Given the description of an element on the screen output the (x, y) to click on. 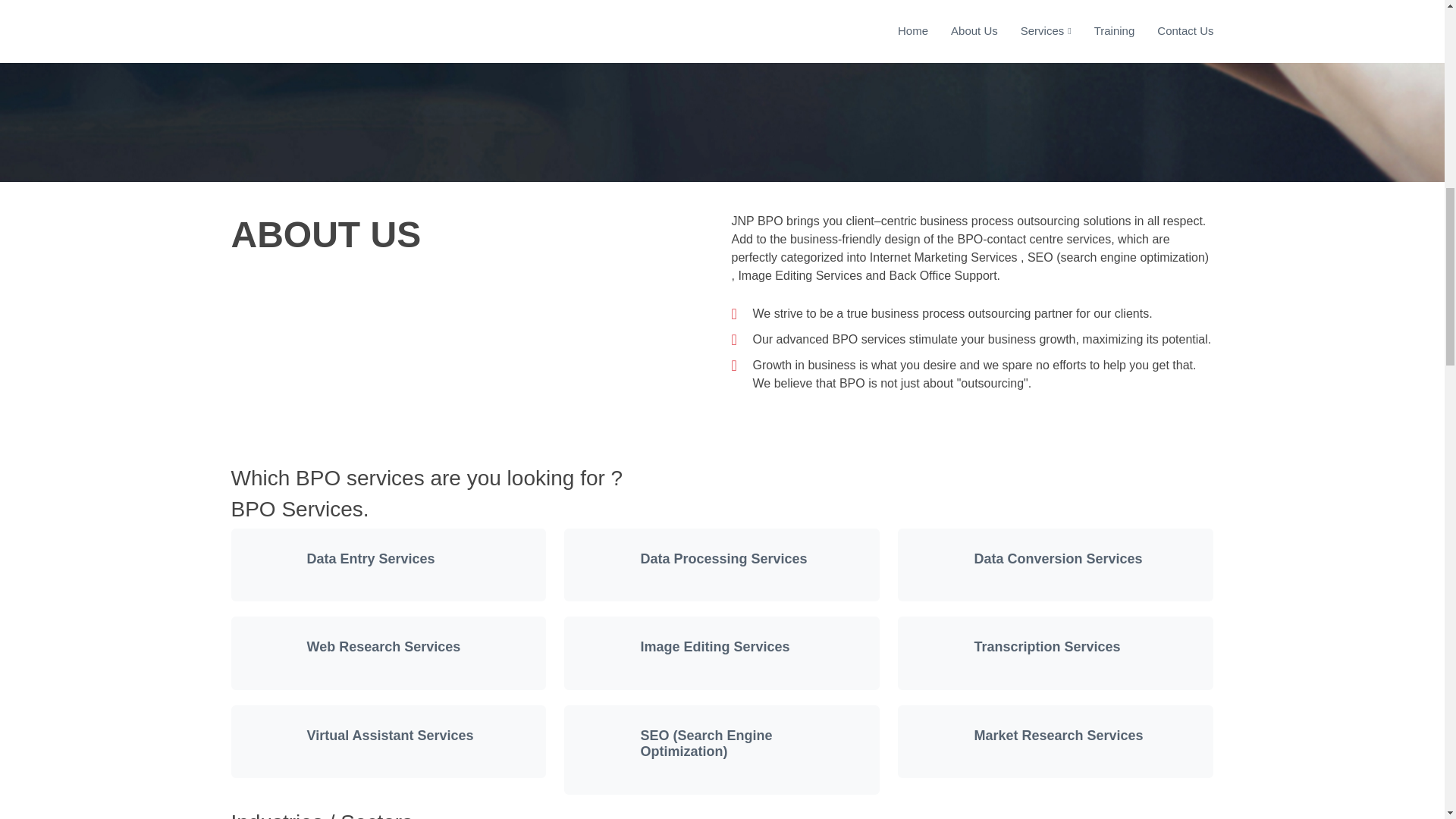
Market Research Services (1058, 735)
Data Conversion Services (1057, 558)
Virtual Assistant Services (389, 735)
Data Entry Services (369, 558)
Image Editing Services (714, 646)
Data Processing Services (723, 558)
Web Research Services (382, 646)
Transcription Services (1046, 646)
